Given the description of an element on the screen output the (x, y) to click on. 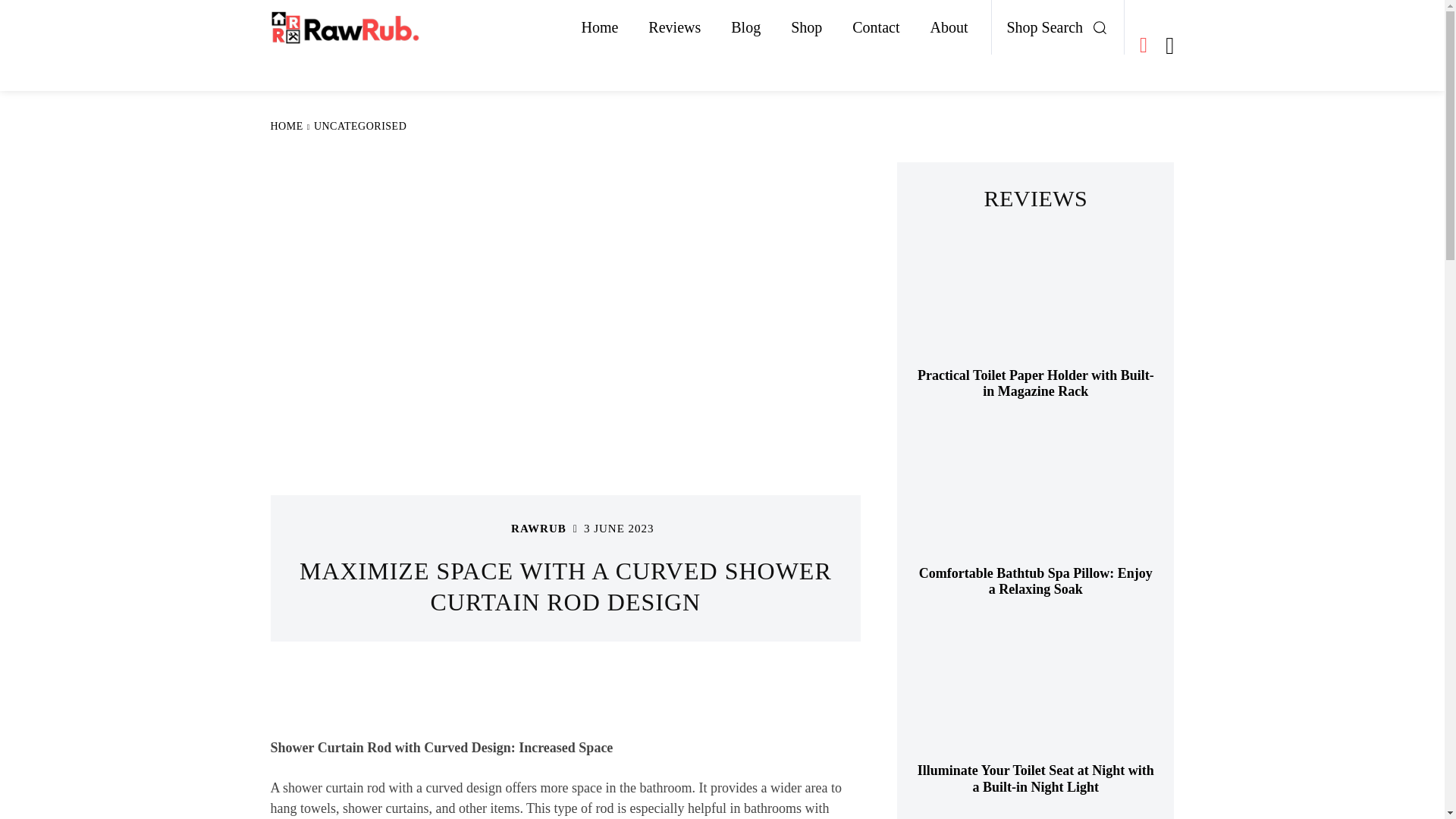
Reviews (674, 27)
View all posts in Uncategorised (360, 125)
About (948, 27)
Rawrub (491, 528)
Shop (806, 27)
Contact (875, 27)
Home (599, 27)
Shop Search (1061, 27)
Blog (746, 27)
